Given the description of an element on the screen output the (x, y) to click on. 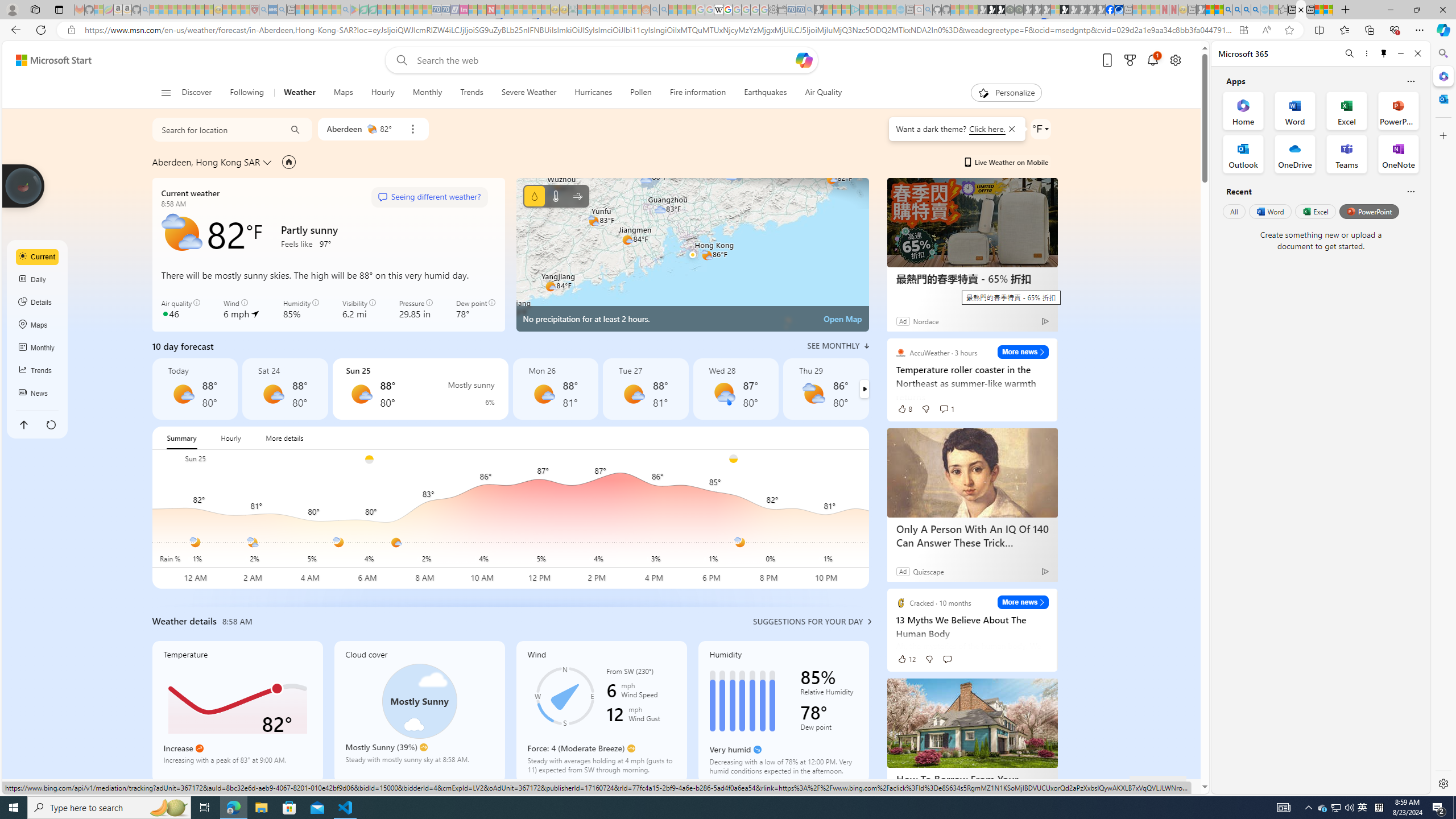
Increase (199, 748)
Mostly sunny (633, 393)
Set as primary location (289, 161)
Suggestions for your day (807, 620)
Excel Office App (1346, 110)
Latest Politics News & Archive | Newsweek.com - Sleeping (490, 9)
Humidity (783, 711)
